Given the description of an element on the screen output the (x, y) to click on. 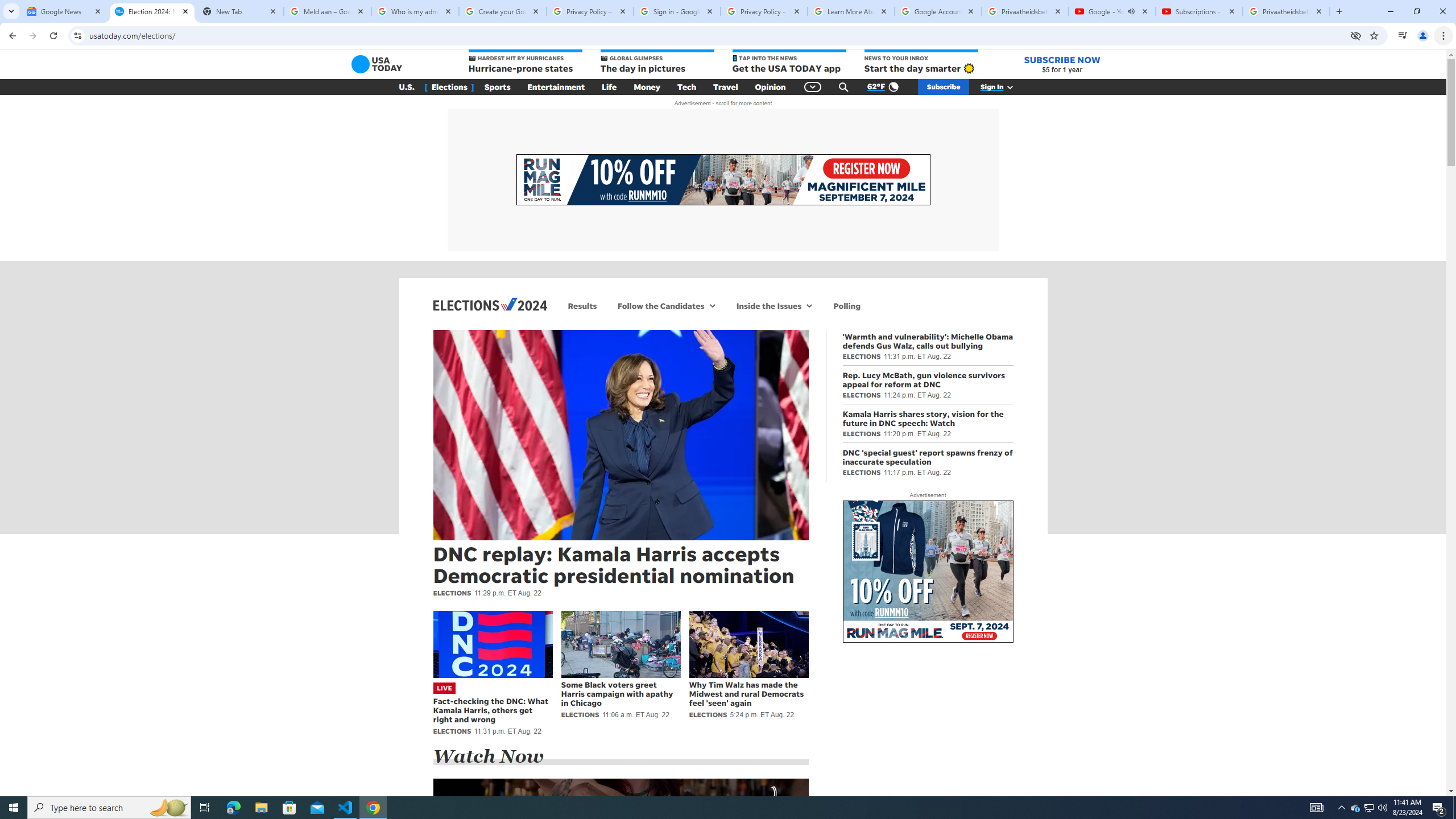
Mute tab (1130, 10)
Money (646, 87)
Life (609, 87)
Tech (686, 87)
Sign in - Google Accounts (676, 11)
